Given the description of an element on the screen output the (x, y) to click on. 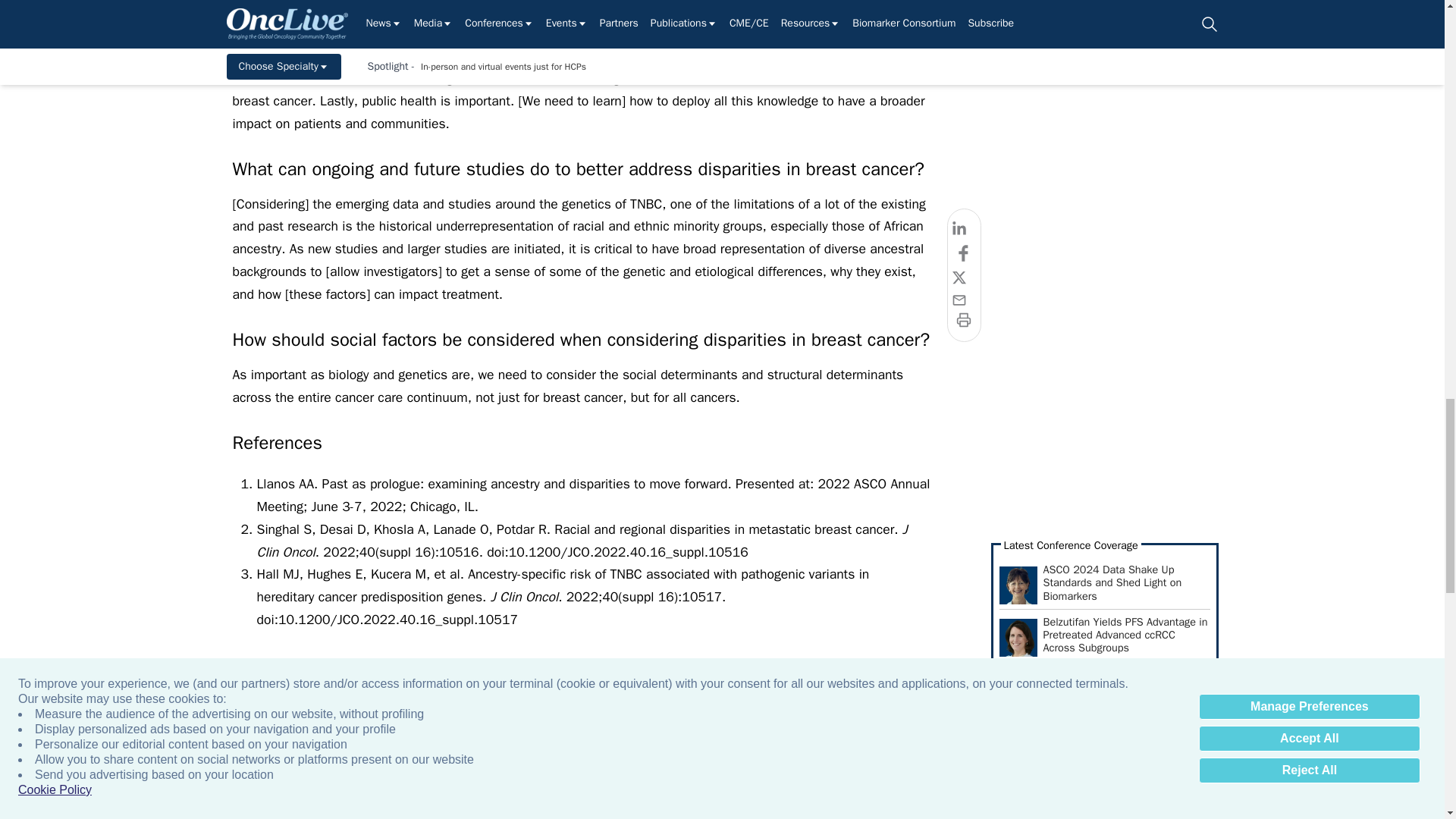
Cynthia Ma, MD, PhD (1163, 785)
Arya Mariam Roy, MBBS (1326, 785)
A panel of 5 experts on breast cancer (835, 785)
Adrienne G. Waks, MD, Dana-Farber Cancer Institute (343, 785)
A panel of 5 experts on breast cancer (999, 785)
